Given the description of an element on the screen output the (x, y) to click on. 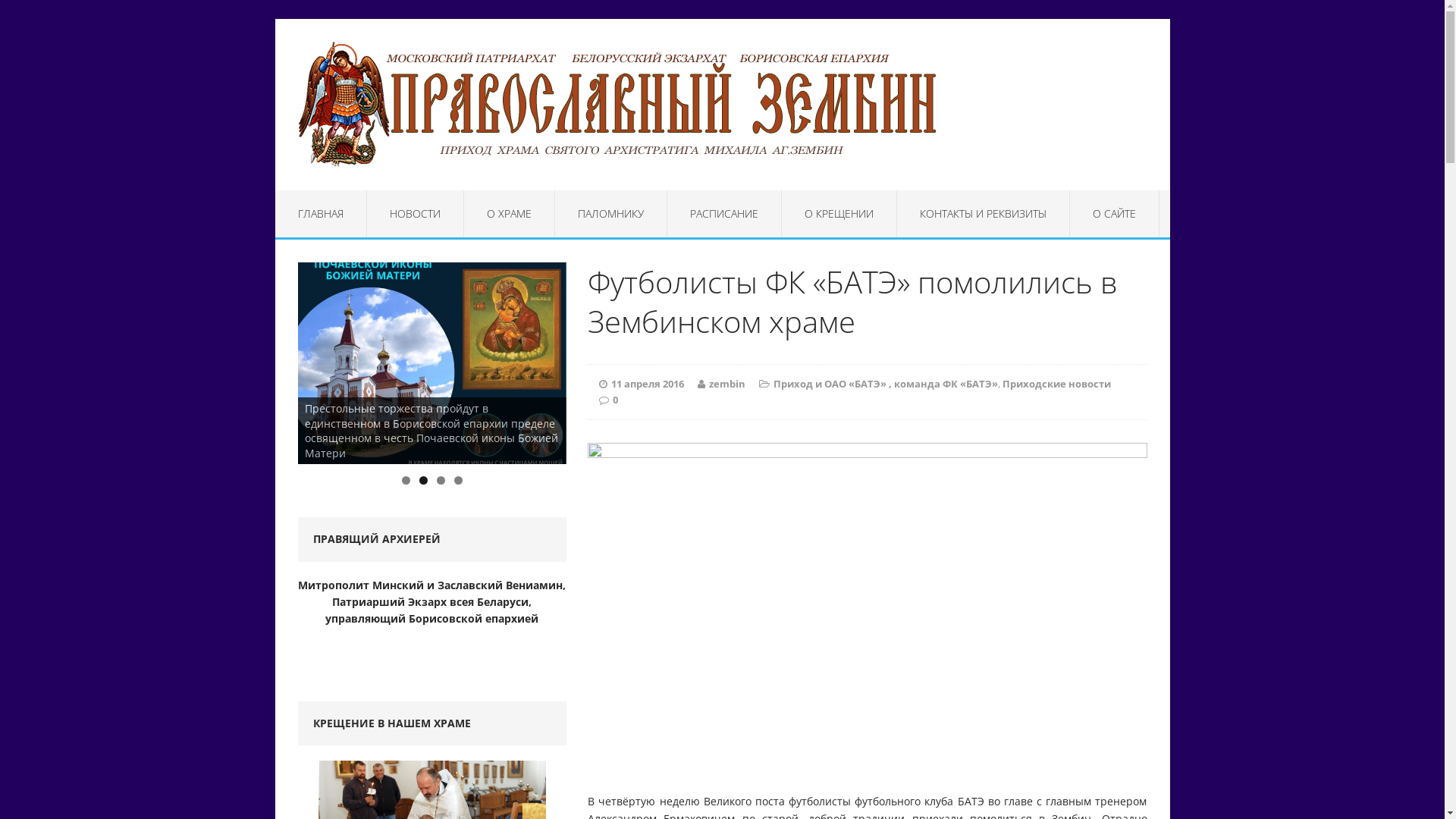
4 Element type: text (458, 480)
2 Element type: text (423, 480)
3 Element type: text (440, 480)
0 Element type: text (615, 399)
2 Element type: hover (700, 363)
1 Element type: text (405, 480)
3 Element type: hover (431, 363)
zembin Element type: text (727, 383)
